Given the description of an element on the screen output the (x, y) to click on. 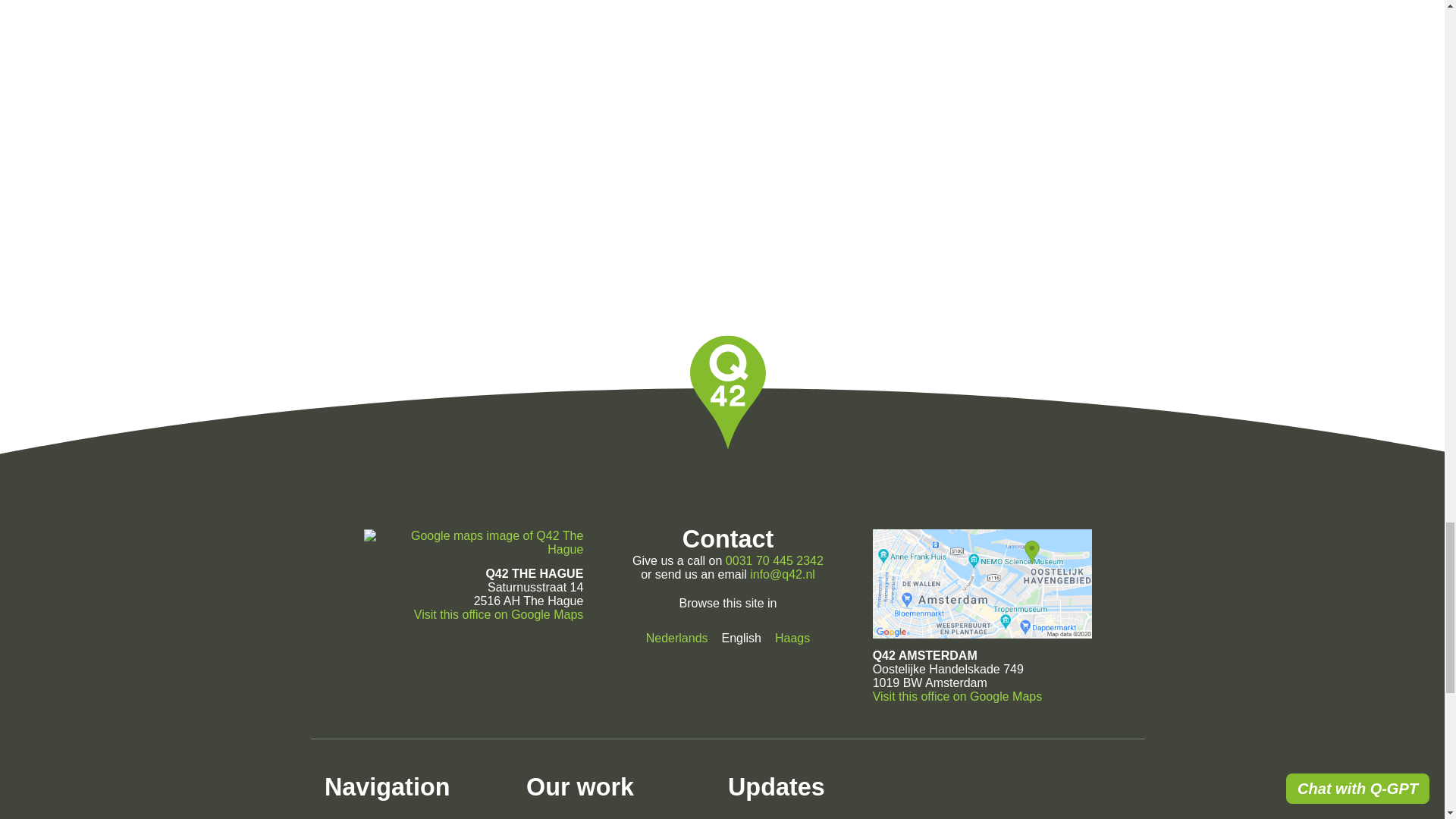
Visit this office on Google Maps (957, 696)
0031 70 445 2342 (774, 560)
Haags (791, 637)
Nederlands (676, 637)
Home (344, 817)
English (741, 637)
Visit this office on Google Maps (498, 614)
